Given the description of an element on the screen output the (x, y) to click on. 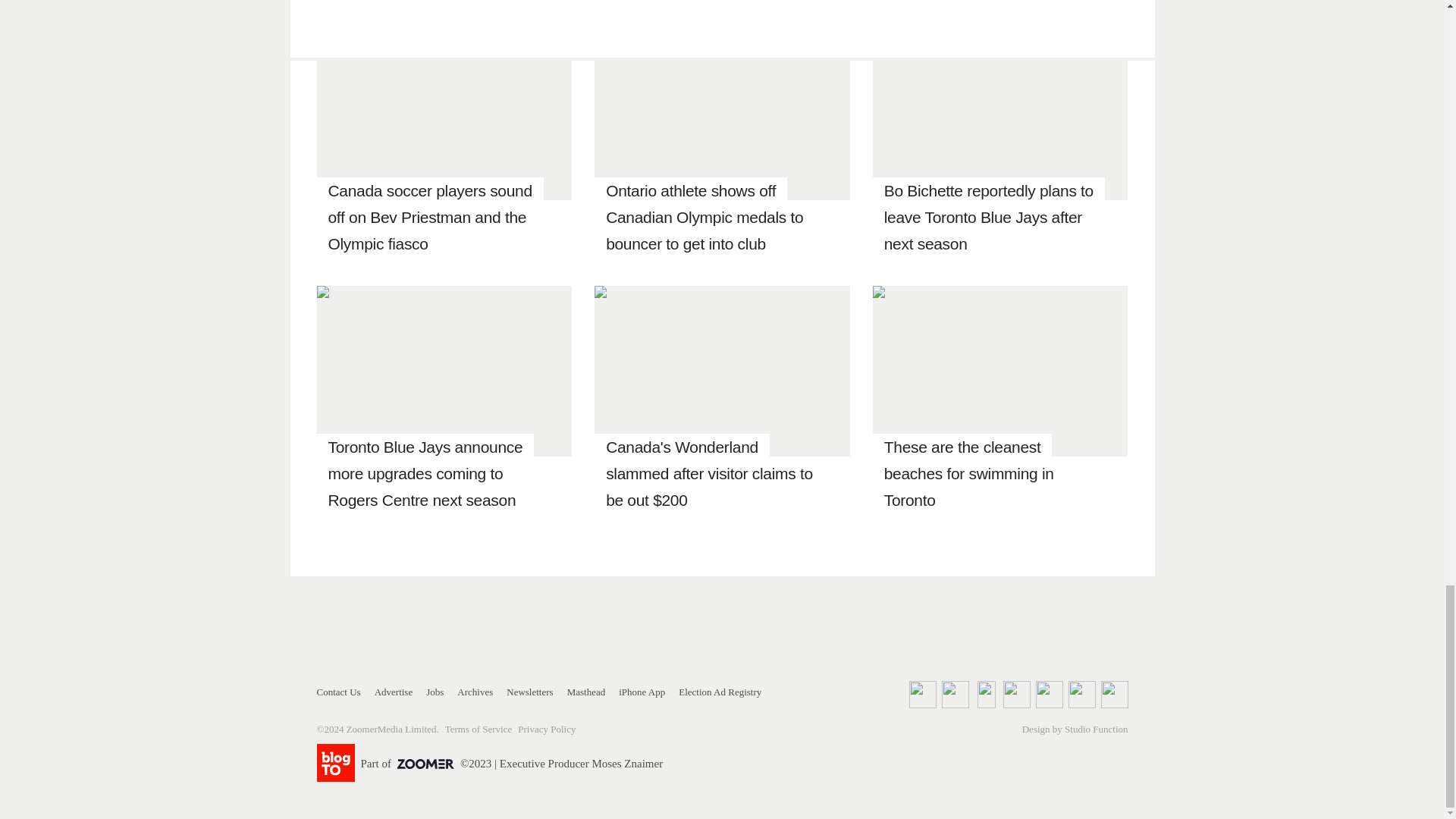
Election Ad Registry (719, 691)
Newsletters (529, 691)
Archives (475, 691)
Advertise (393, 691)
Masthead (586, 691)
Contact Us (339, 691)
iPhone App (641, 691)
Jobs (435, 691)
